Given the description of an element on the screen output the (x, y) to click on. 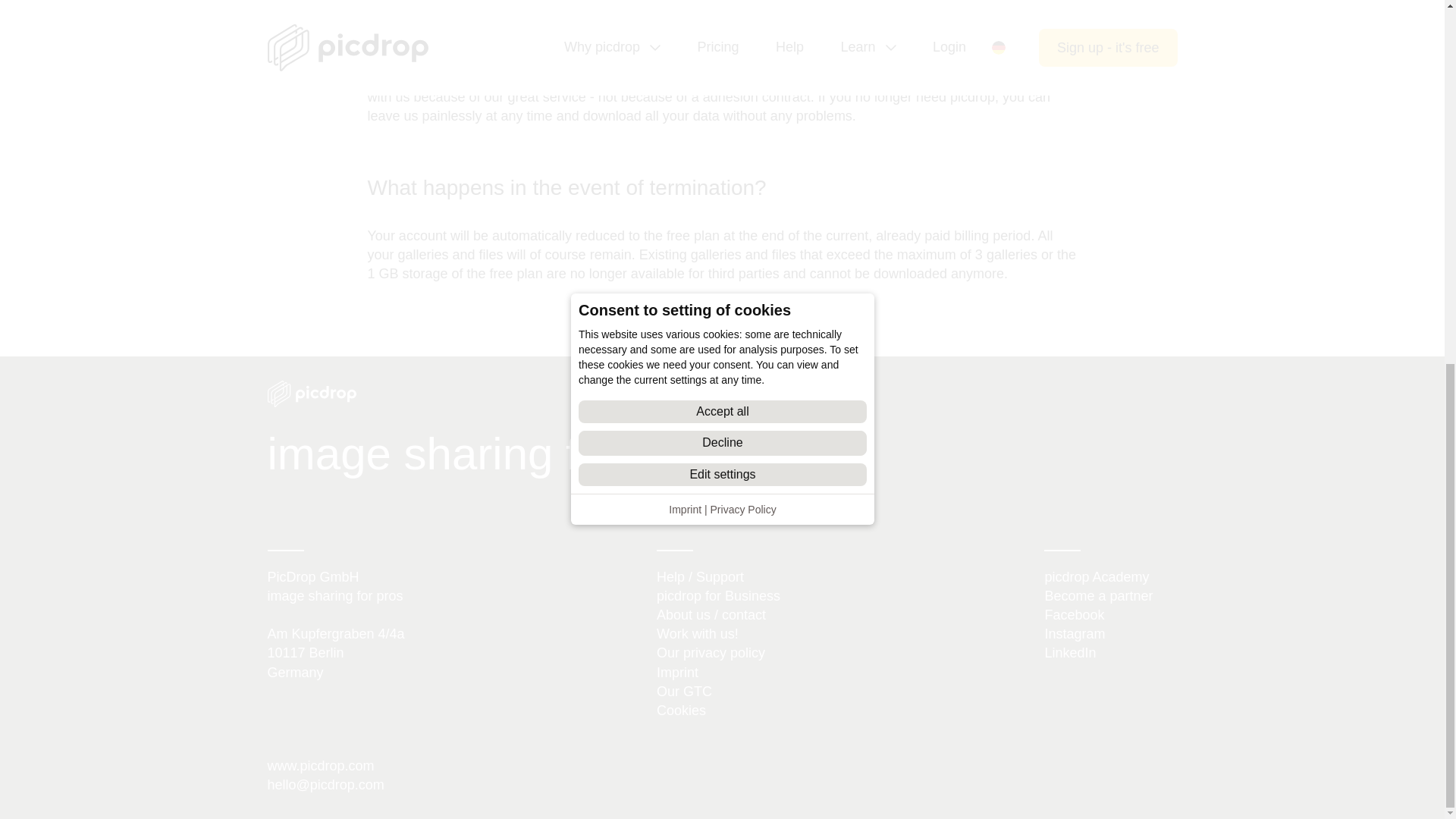
Facebook (1073, 614)
picdrop Academy (1095, 576)
LinkedIn (1069, 652)
Become a partner (1098, 595)
Our privacy policy (710, 652)
Imprint (677, 672)
Instagram (1074, 633)
Cookies (681, 710)
picdrop for Business (718, 595)
Our GTC (683, 691)
